Given the description of an element on the screen output the (x, y) to click on. 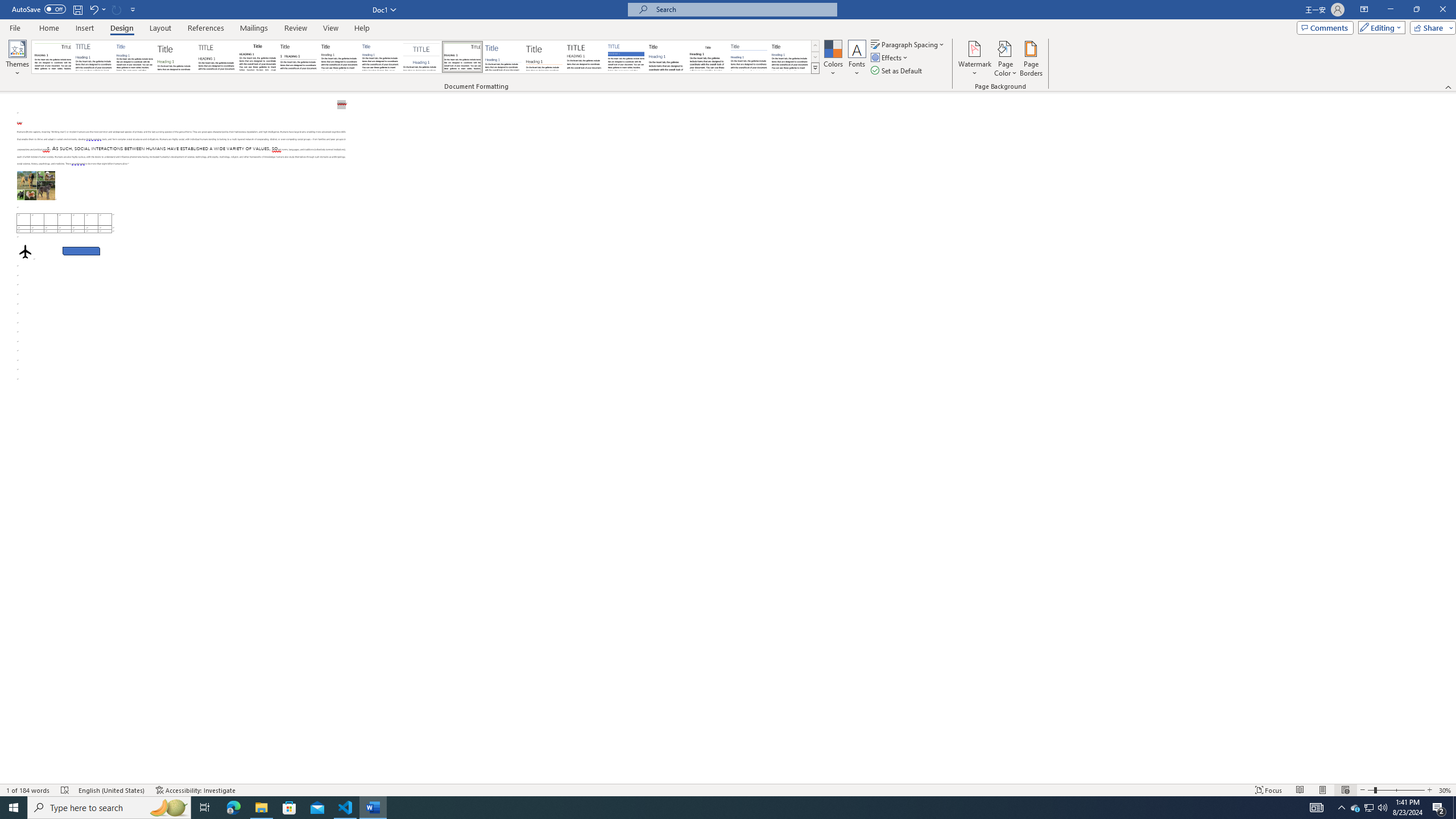
Casual (379, 56)
Black & White (Classic) (257, 56)
Undo Apply Quick Style Set (96, 9)
Word (666, 56)
